Given the description of an element on the screen output the (x, y) to click on. 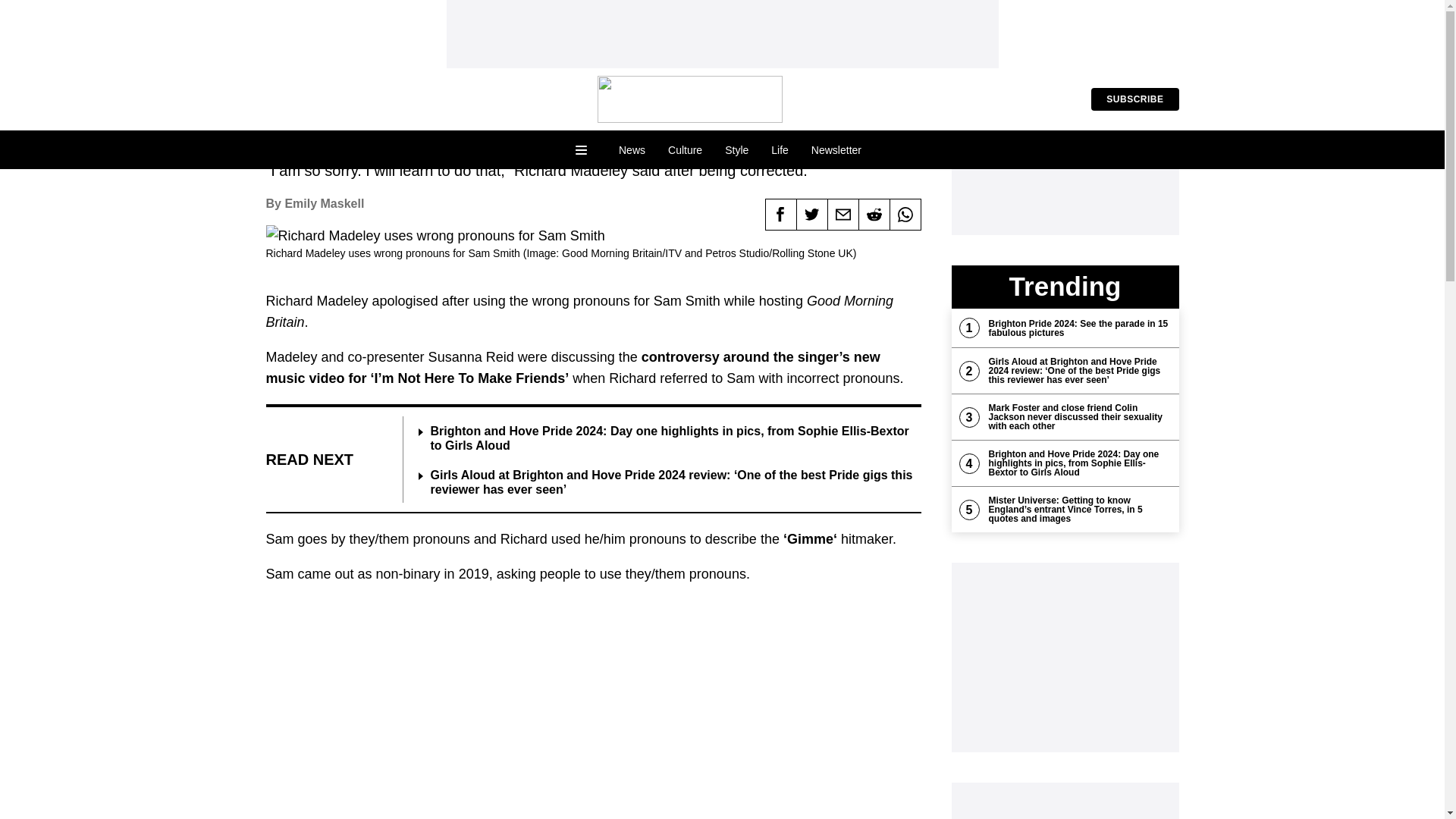
Newsletter (835, 150)
Life (779, 150)
Culture (684, 150)
Skip to main content (61, 10)
News (631, 150)
Style (736, 150)
SUBSCRIBE (1134, 99)
Home (689, 99)
